Given the description of an element on the screen output the (x, y) to click on. 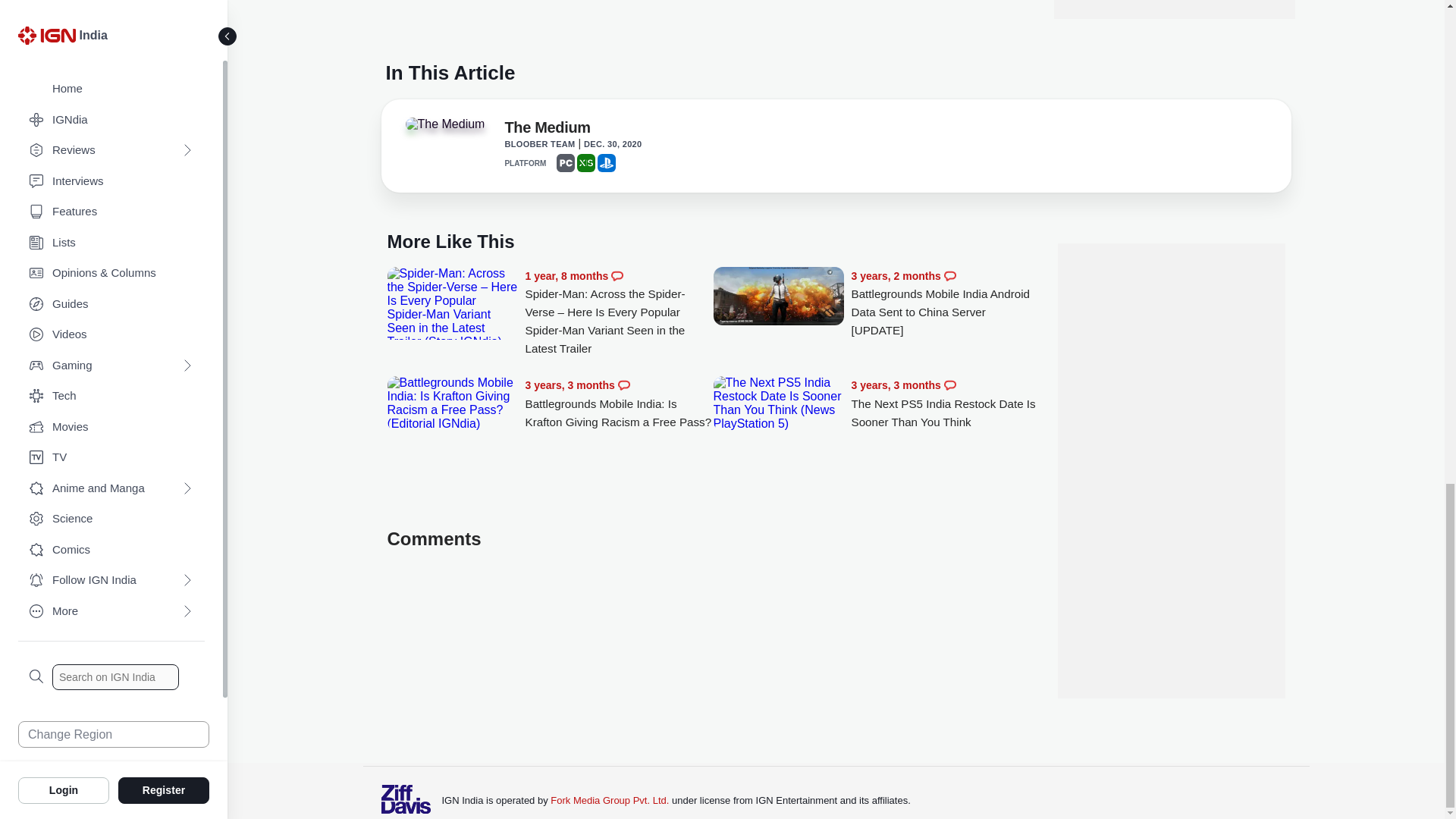
The Medium (444, 124)
The Next PS5 India Restock Date Is Sooner Than You Think (778, 402)
The Next PS5 India Restock Date Is Sooner Than You Think (944, 403)
The Medium (546, 129)
The Medium (448, 128)
